Given the description of an element on the screen output the (x, y) to click on. 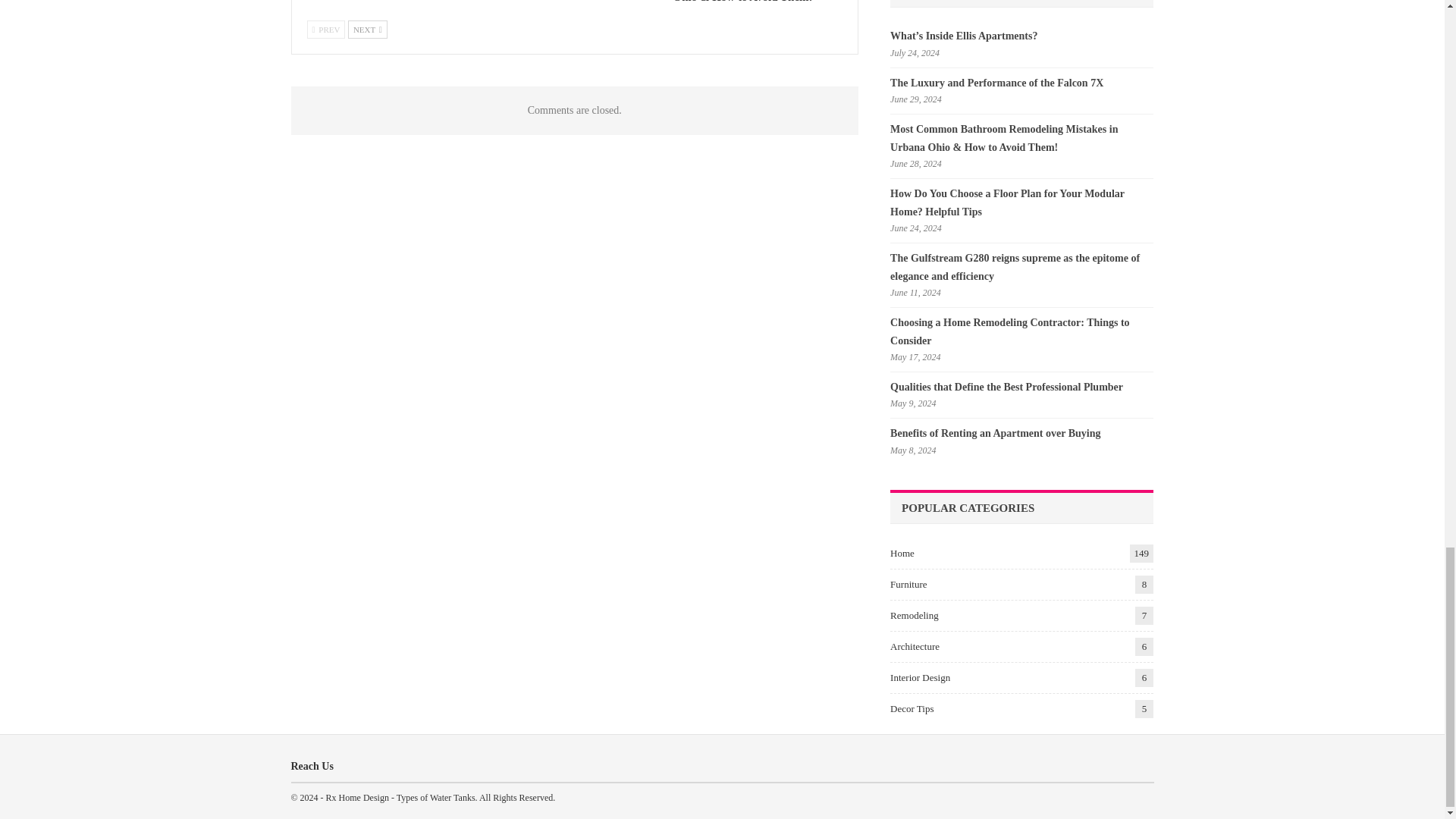
Next (367, 29)
NEXT (367, 29)
PREV (325, 29)
Previous (325, 29)
